Given the description of an element on the screen output the (x, y) to click on. 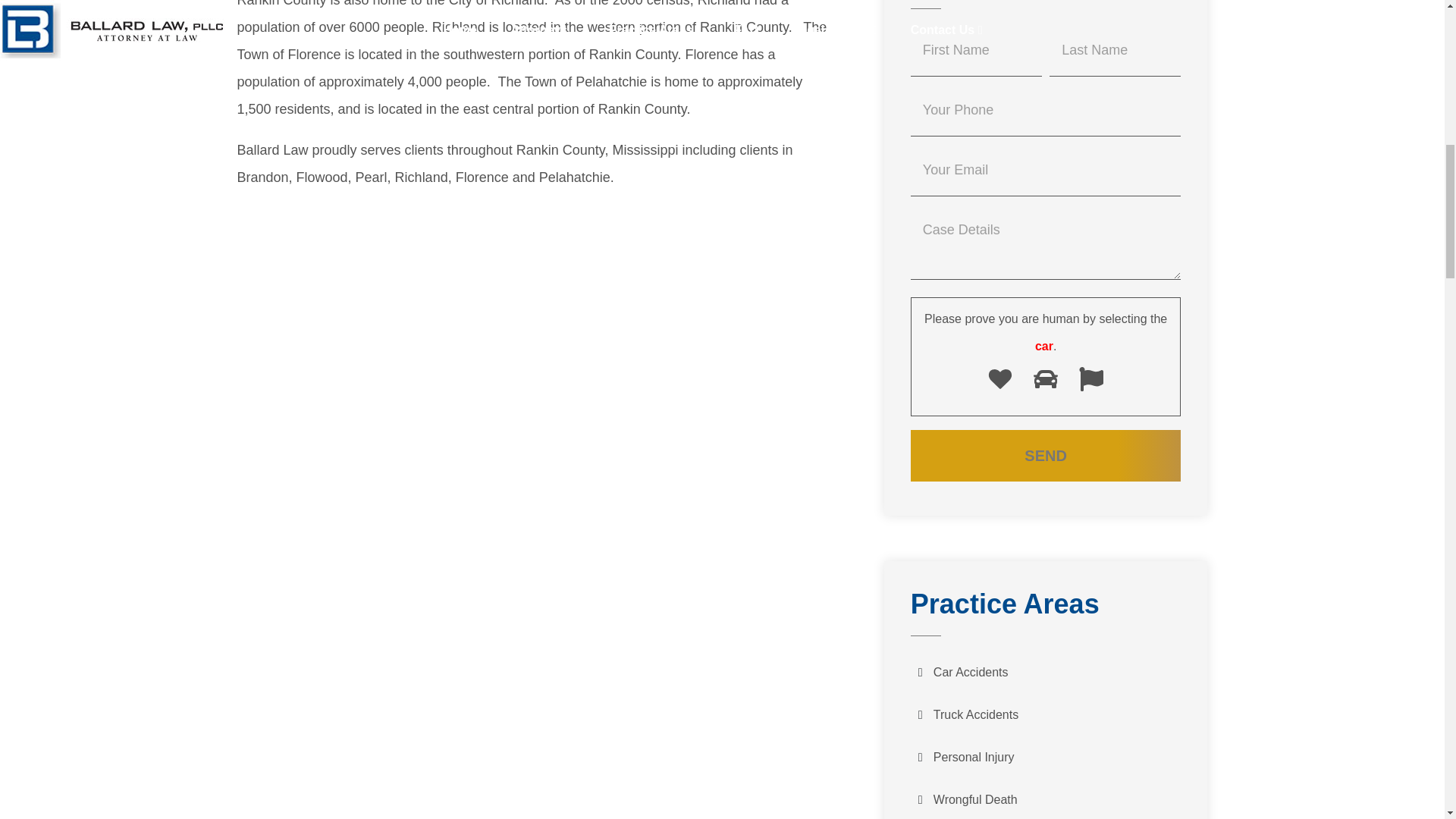
Send (1045, 455)
